Given the description of an element on the screen output the (x, y) to click on. 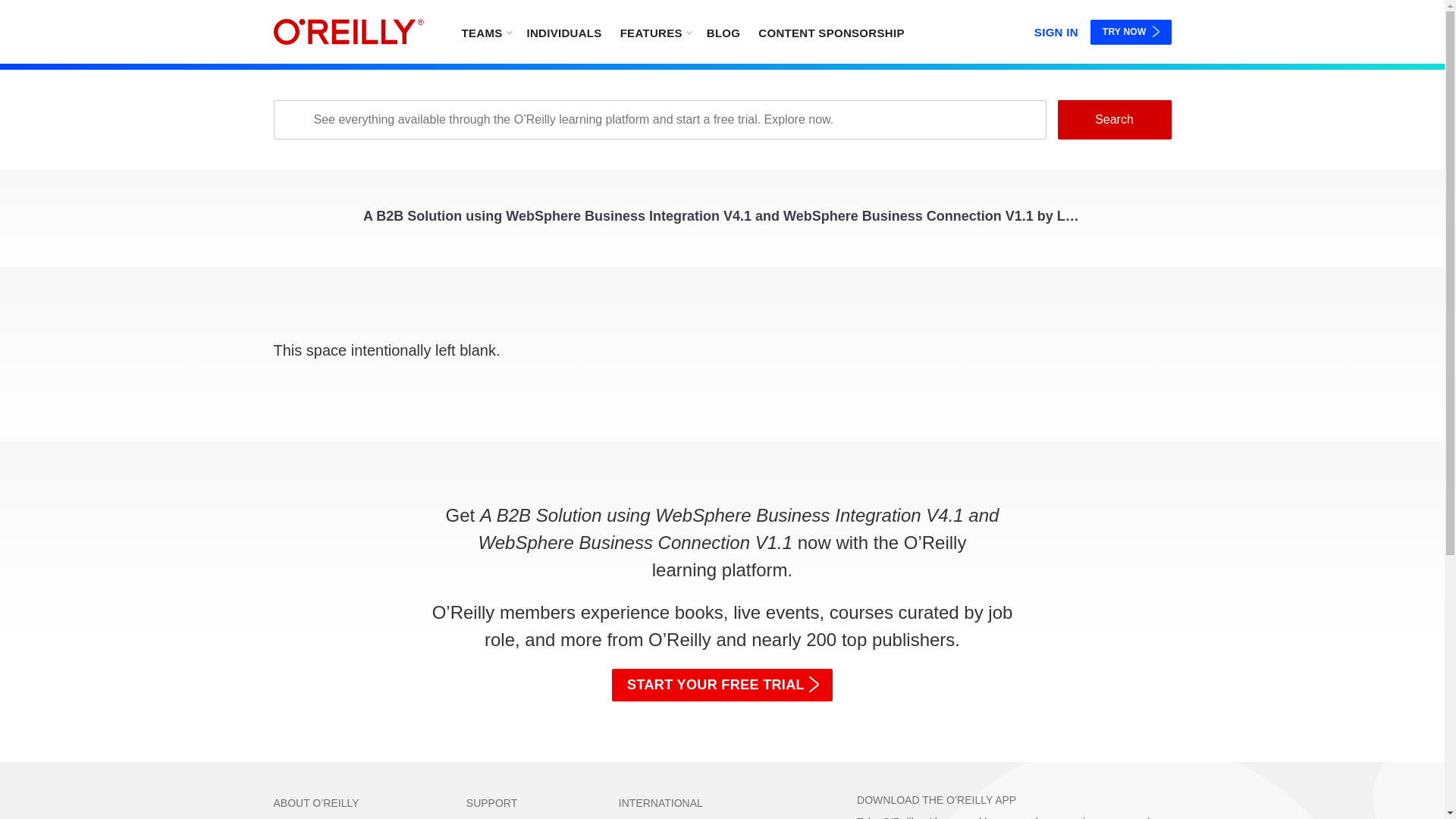
Search (1113, 119)
TRY NOW (1131, 32)
CONTENT SPONSORSHIP (831, 31)
SUPPORT (490, 802)
SIGN IN (1055, 29)
INDIVIDUALS (563, 31)
Contact us (490, 818)
home page (348, 31)
Search (1113, 119)
BLOG (723, 31)
START YOUR FREE TRIAL (721, 685)
Search (1113, 119)
TEAMS (486, 31)
FEATURES (655, 31)
